Given the description of an element on the screen output the (x, y) to click on. 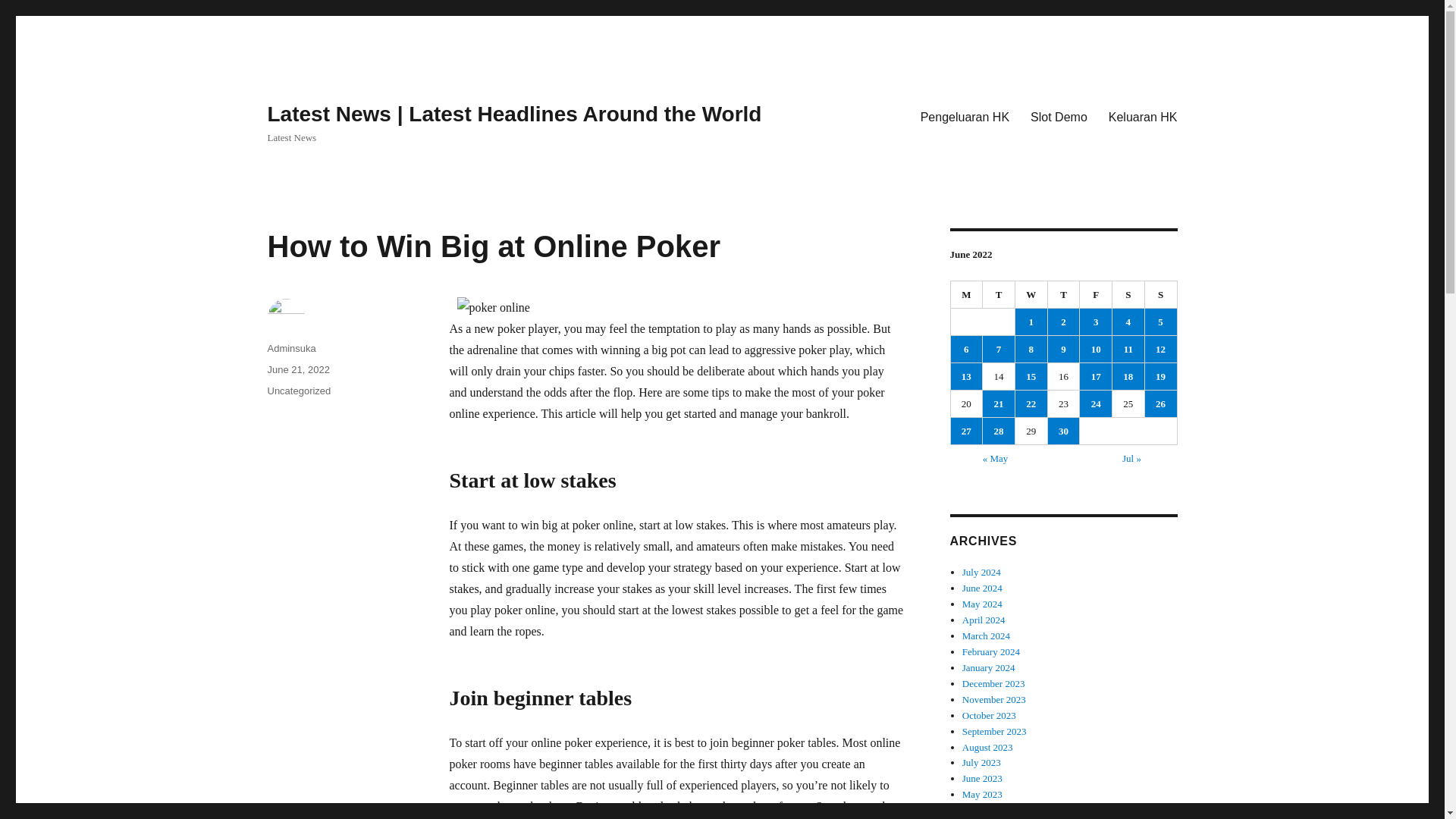
10 (1096, 348)
May 2024 (982, 603)
3 (1096, 321)
27 (966, 430)
Pengeluaran HK (965, 116)
6 (966, 348)
Slot Demo (1058, 116)
Wednesday (1031, 294)
8 (1030, 348)
Monday (967, 294)
Sunday (1160, 294)
4 (1128, 321)
Thursday (1064, 294)
1 (1030, 321)
19 (1160, 376)
